Given the description of an element on the screen output the (x, y) to click on. 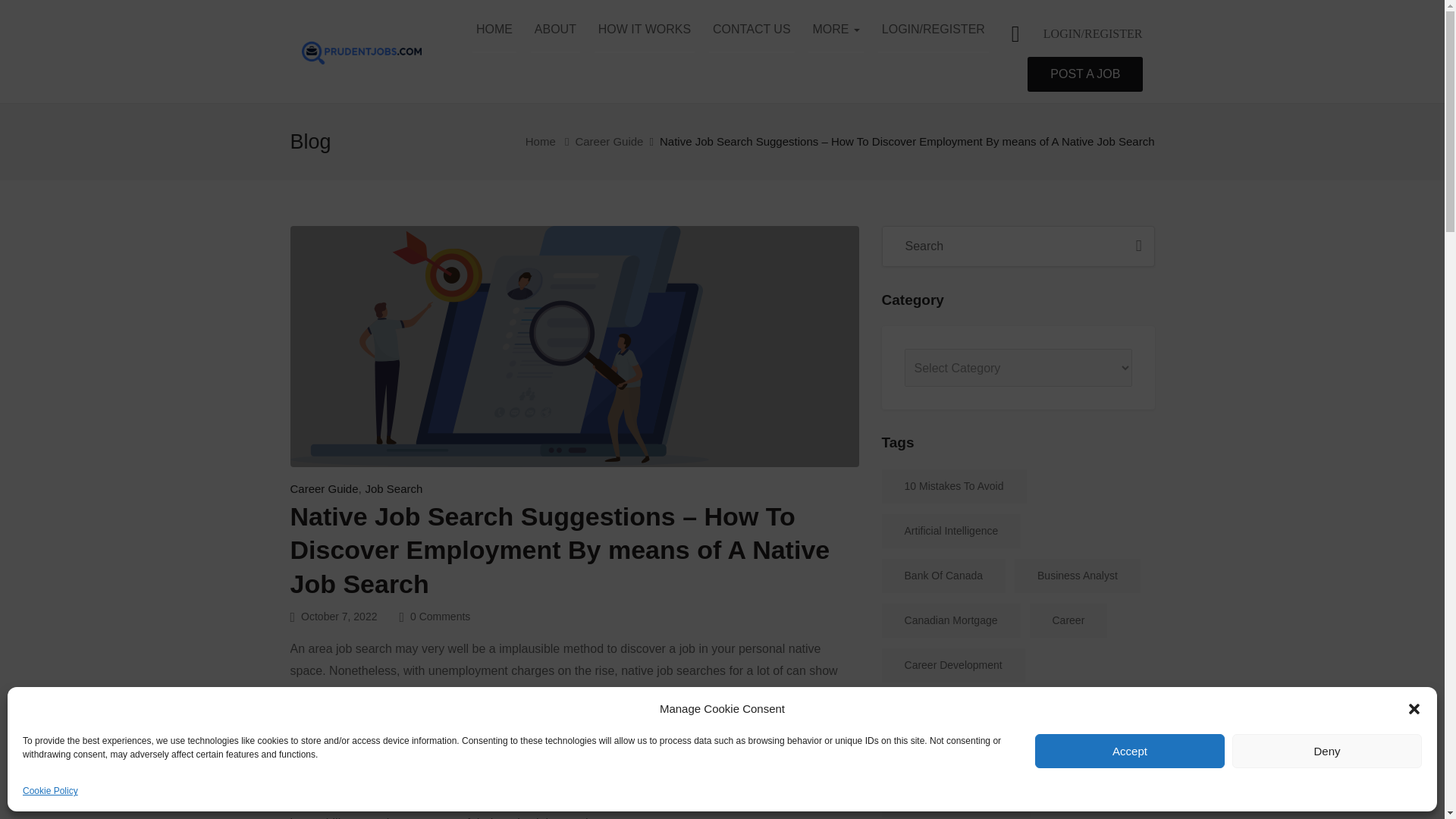
HOME (493, 30)
Cookie Policy (50, 791)
HOW IT WORKS (644, 30)
ABOUT (555, 30)
MORE (835, 30)
Sign in (1092, 33)
CONTACT US (751, 30)
Accept (1129, 750)
Deny (1326, 750)
